Given the description of an element on the screen output the (x, y) to click on. 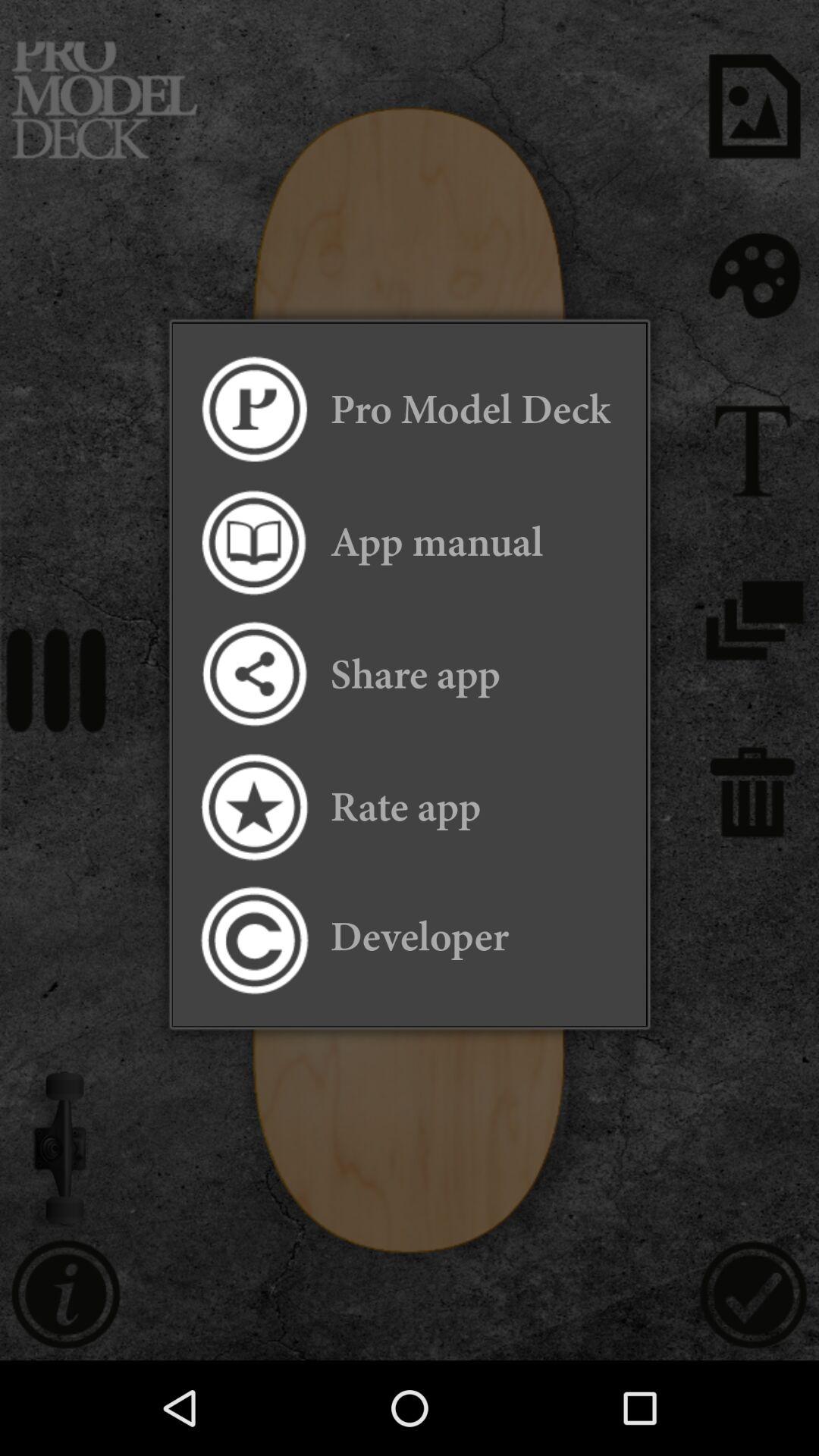
turn off the icon at the top left corner (253, 409)
